Given the description of an element on the screen output the (x, y) to click on. 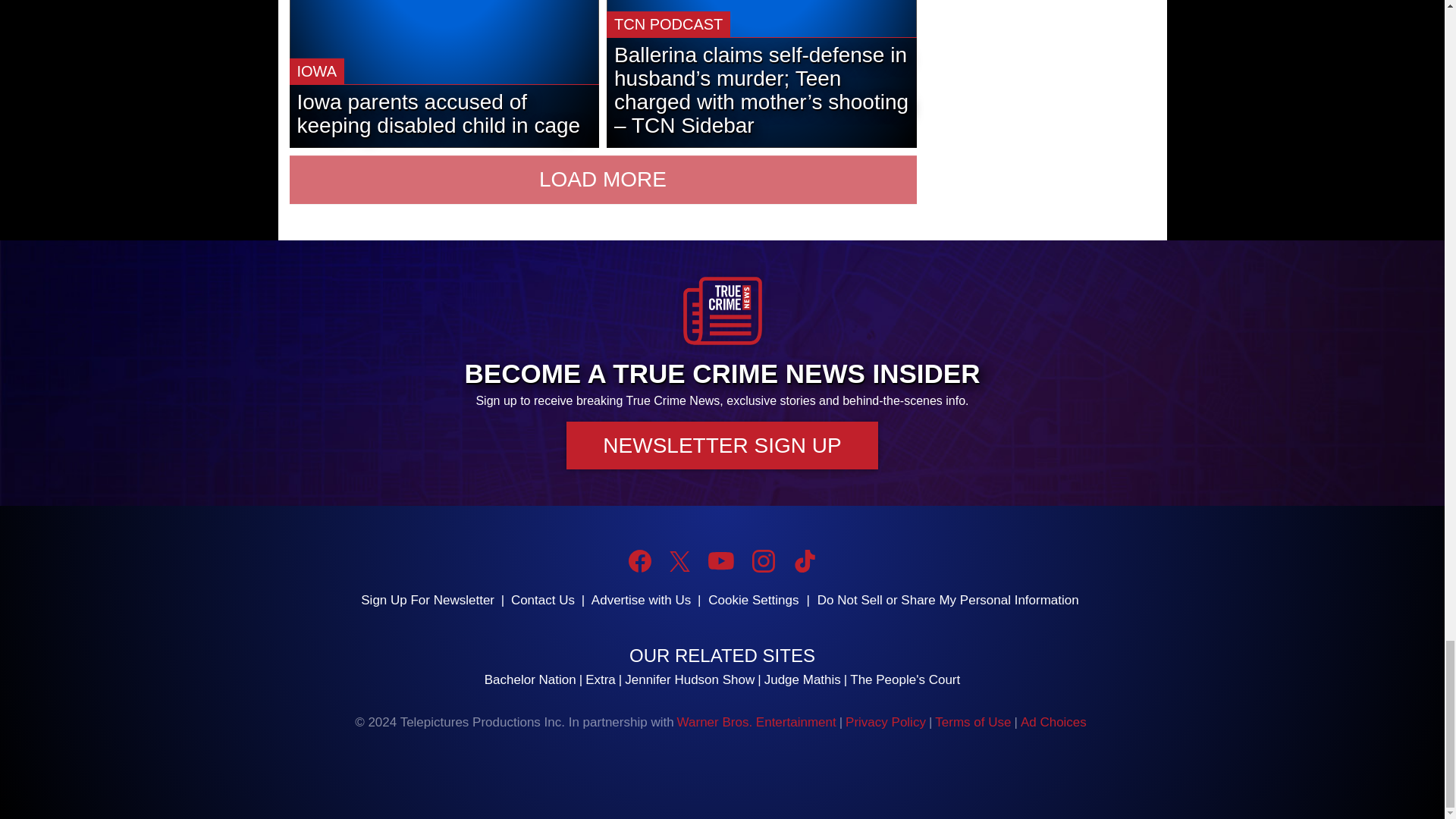
Twitter (679, 561)
Facebook (639, 560)
YouTube (720, 561)
TikTok (804, 560)
Instagram (763, 560)
